Given the description of an element on the screen output the (x, y) to click on. 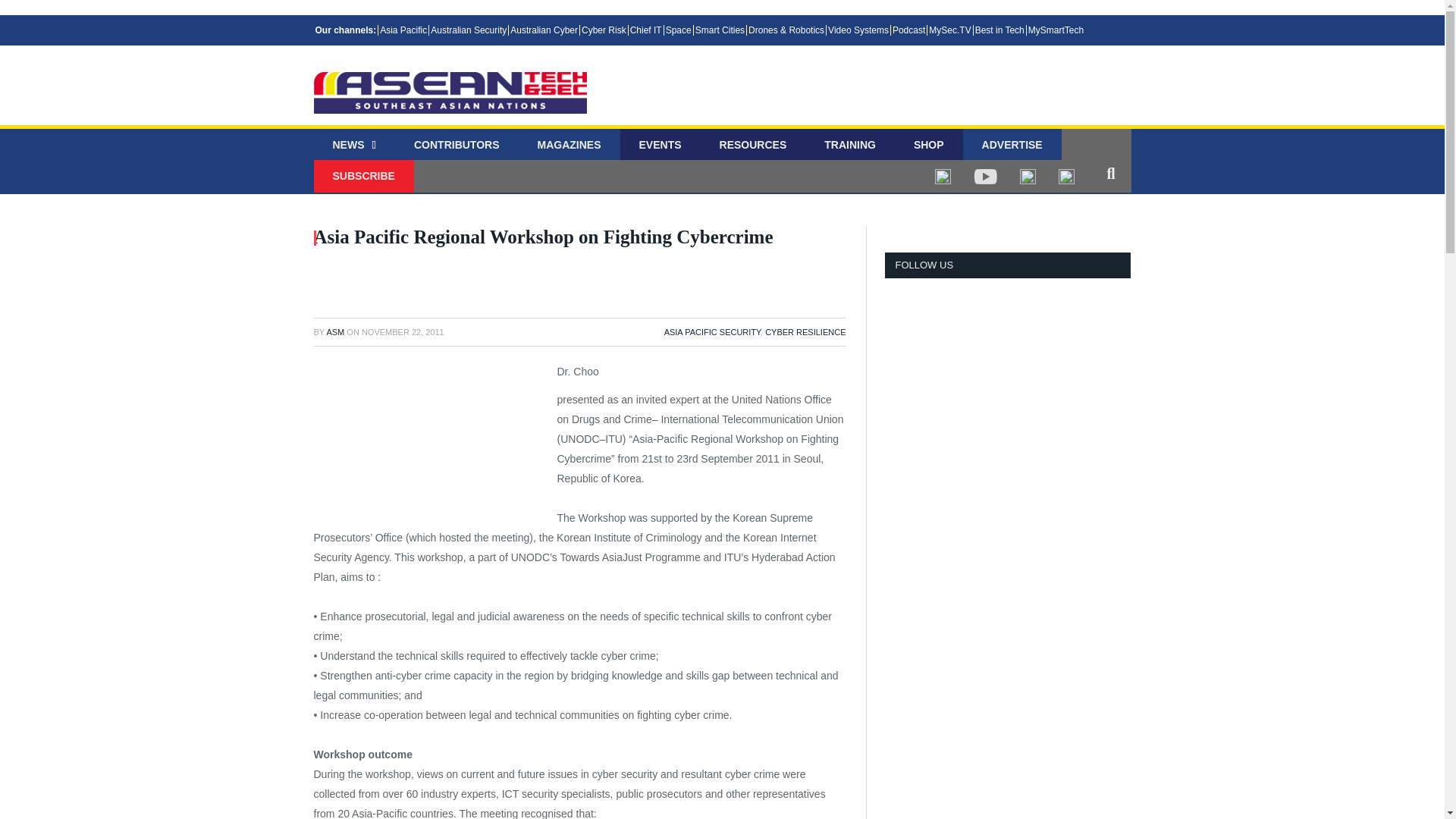
Posts by ASM (334, 331)
Search (1110, 173)
Australian Security (468, 30)
Chief IT (645, 30)
MySec.TV (949, 30)
Smart Cities (719, 30)
RESOURCES (753, 145)
SUBSCRIBE (363, 175)
NEWS (354, 145)
ADVERTISE (1011, 145)
